Given the description of an element on the screen output the (x, y) to click on. 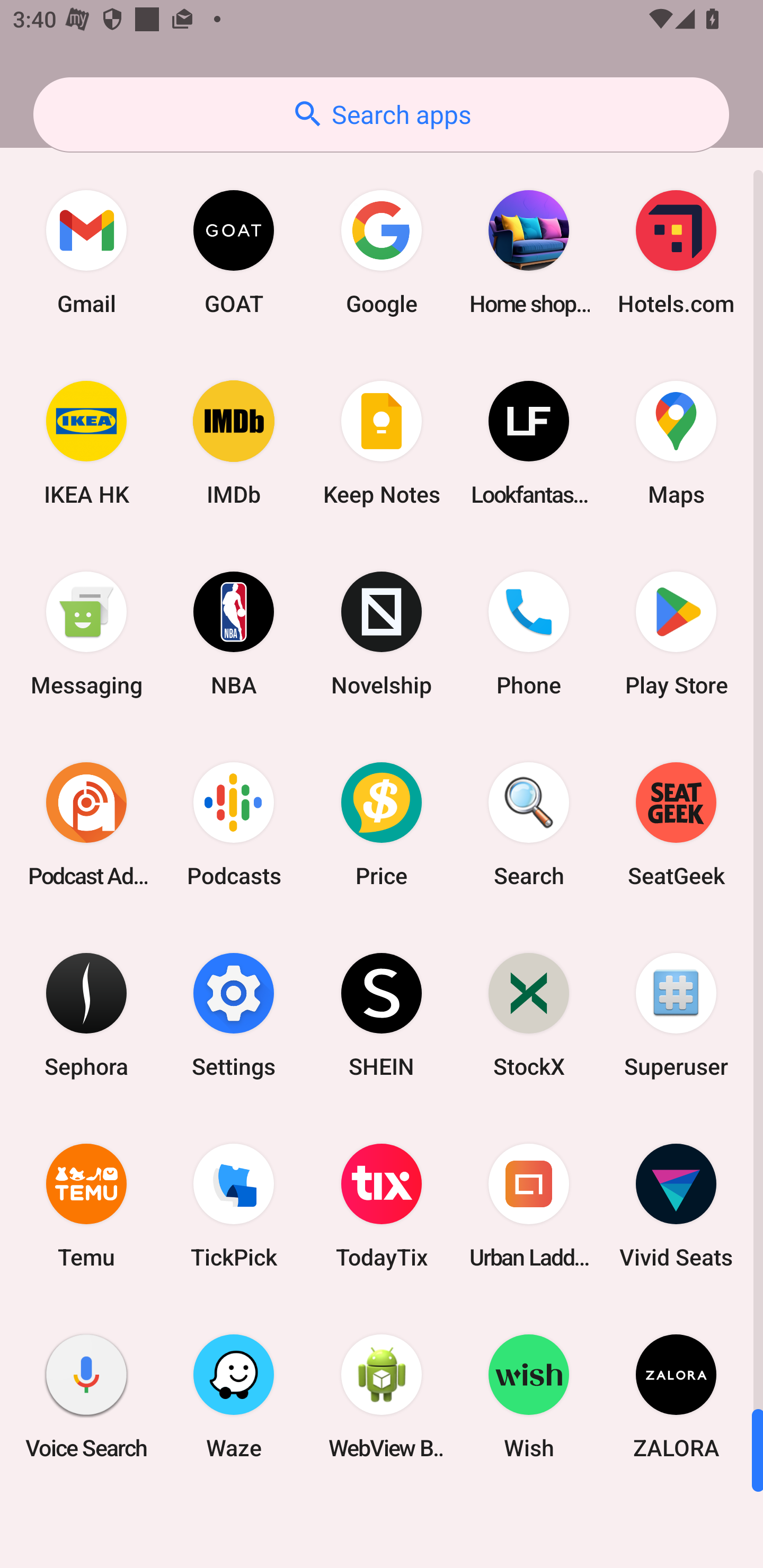
  Search apps (381, 114)
Gmail (86, 252)
GOAT (233, 252)
Google (381, 252)
Home shopping (528, 252)
Hotels.com (676, 252)
IKEA HK (86, 442)
IMDb (233, 442)
Keep Notes (381, 442)
Lookfantastic (528, 442)
Maps (676, 442)
Messaging (86, 633)
NBA (233, 633)
Novelship (381, 633)
Phone (528, 633)
Play Store (676, 633)
Podcast Addict (86, 823)
Podcasts (233, 823)
Price (381, 823)
Search (528, 823)
SeatGeek (676, 823)
Sephora (86, 1014)
Settings (233, 1014)
SHEIN (381, 1014)
StockX (528, 1014)
Superuser (676, 1014)
Temu (86, 1205)
TickPick (233, 1205)
TodayTix (381, 1205)
Urban Ladder (528, 1205)
Vivid Seats (676, 1205)
Voice Search (86, 1396)
Waze (233, 1396)
WebView Browser Tester (381, 1396)
Wish (528, 1396)
ZALORA (676, 1396)
